Given the description of an element on the screen output the (x, y) to click on. 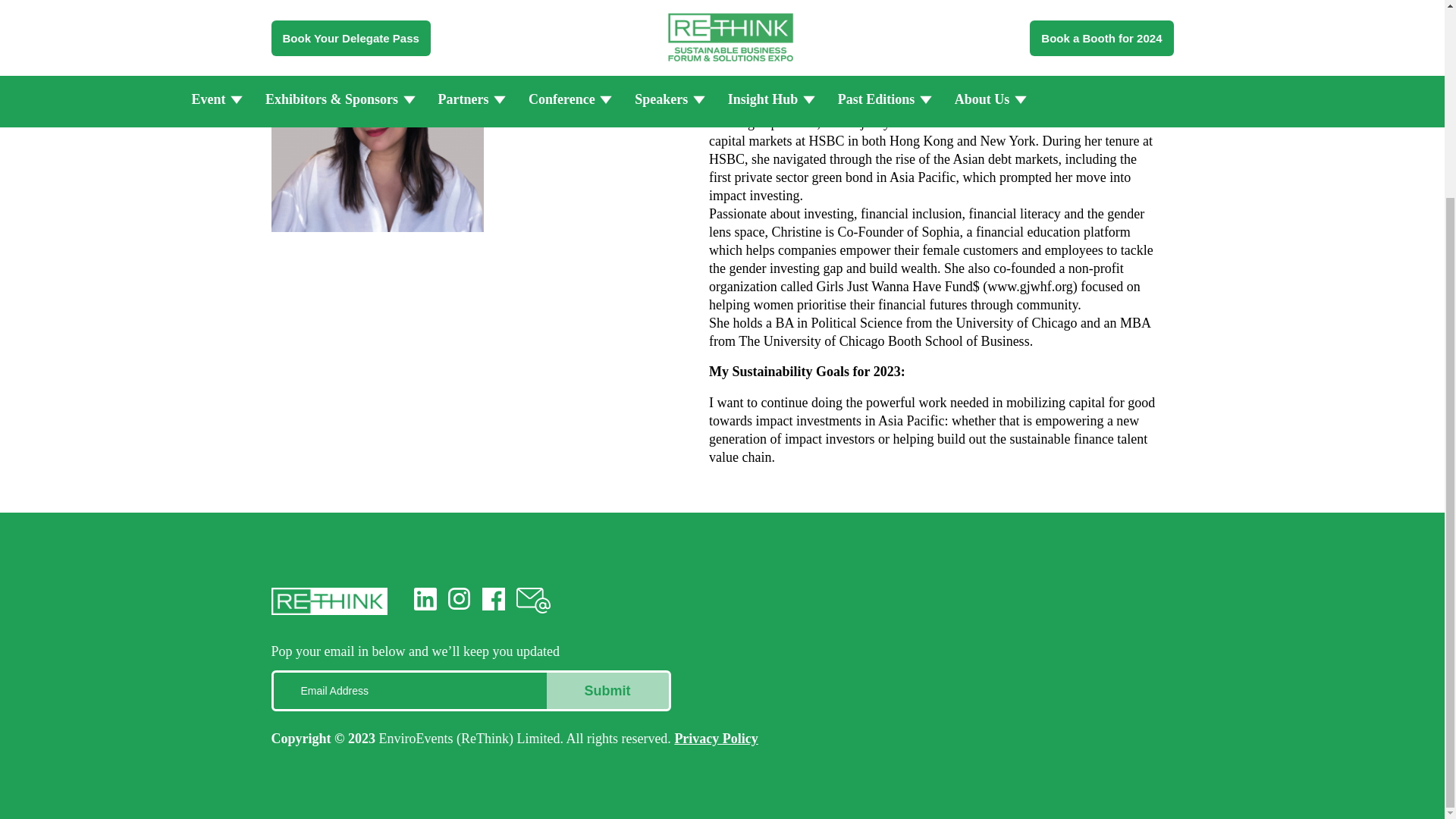
Submit (607, 690)
